Given the description of an element on the screen output the (x, y) to click on. 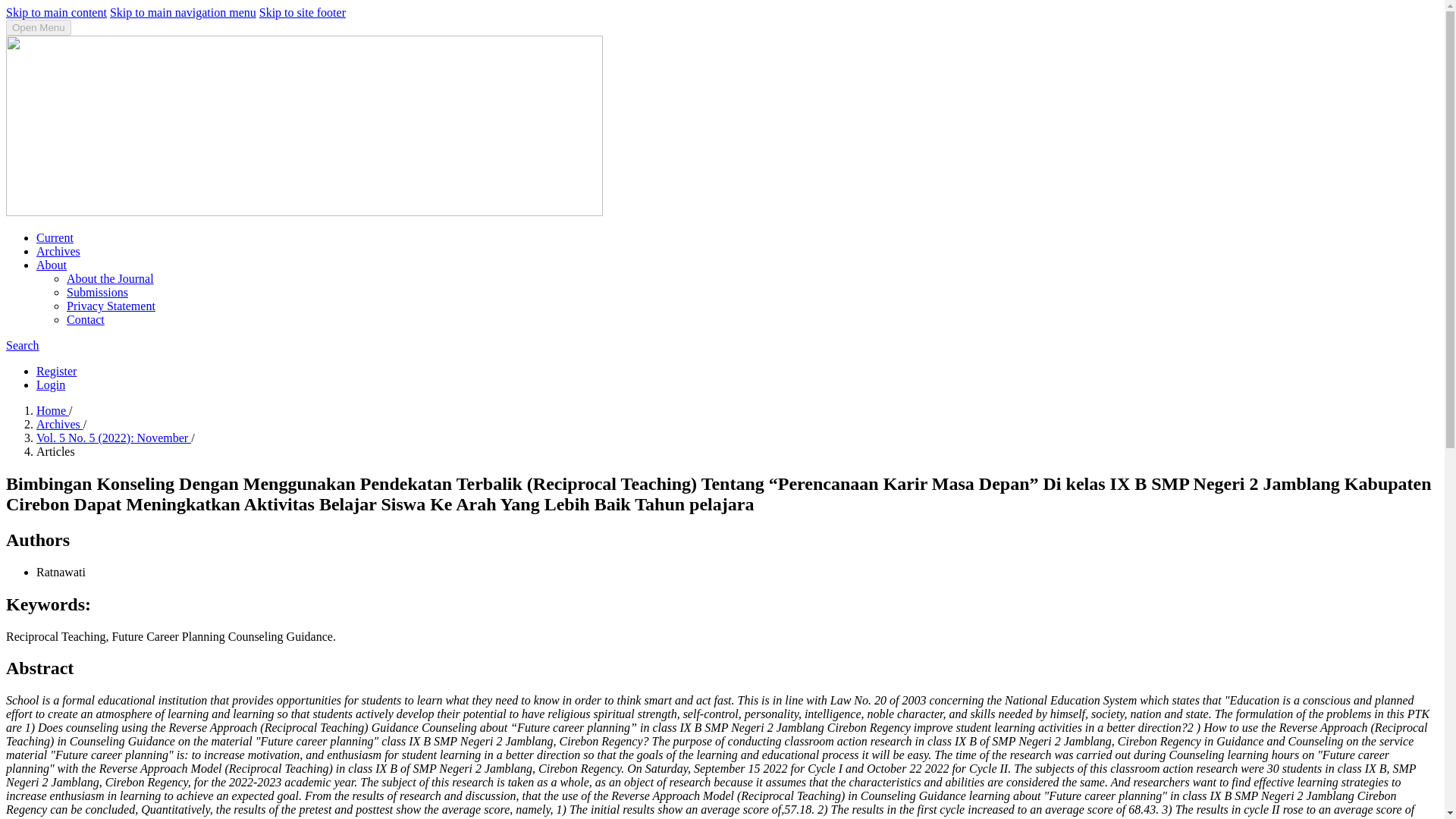
About (51, 264)
Archives (59, 423)
Open Menu (38, 27)
Current (55, 237)
About the Journal (110, 278)
Privacy Statement (110, 305)
Login (50, 384)
Search (22, 345)
Archives (58, 250)
Contact (85, 318)
Home (52, 410)
Skip to site footer (302, 11)
Skip to main navigation menu (183, 11)
Register (56, 370)
Submissions (97, 291)
